Given the description of an element on the screen output the (x, y) to click on. 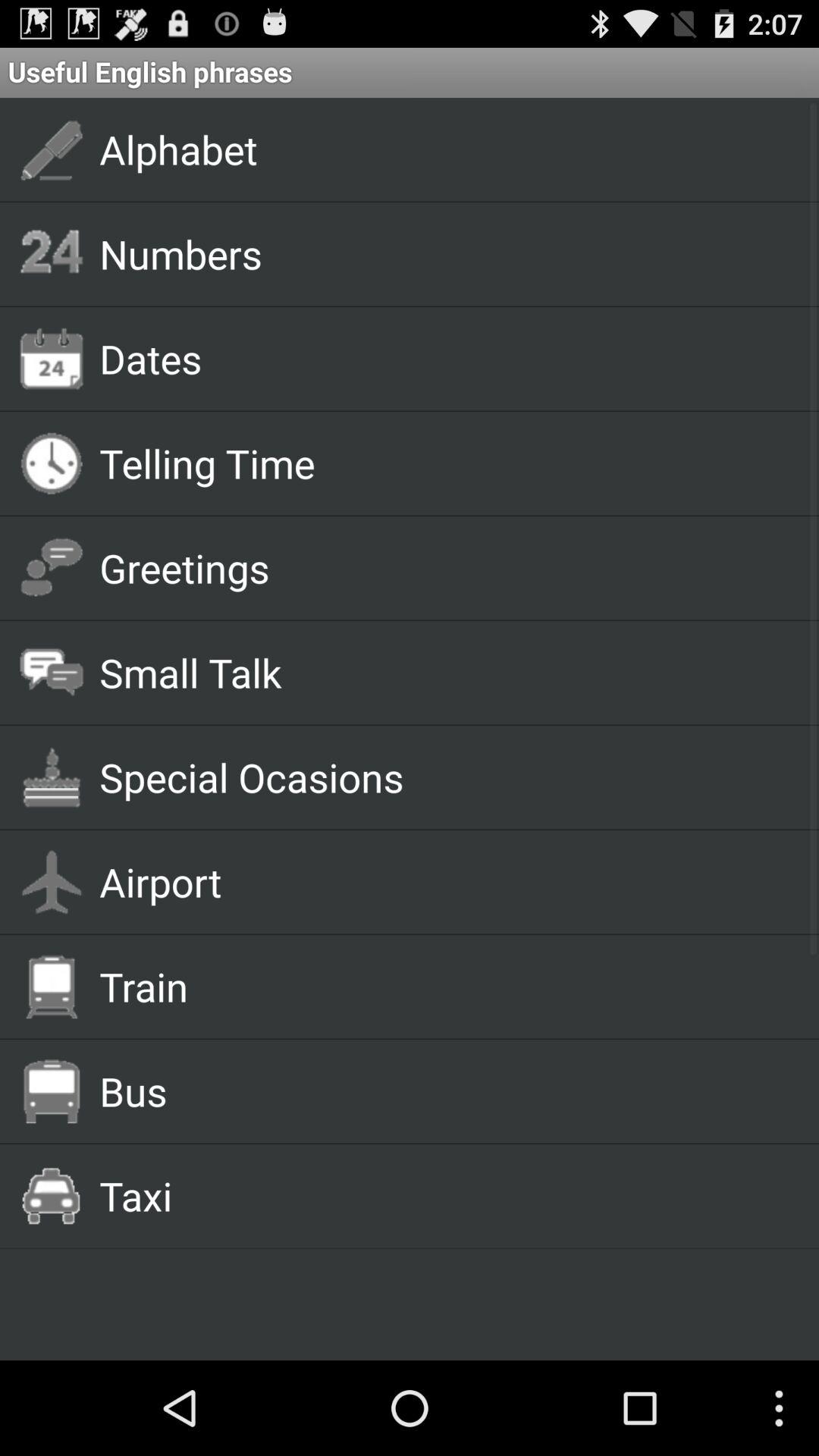
launch the taxi (441, 1195)
